Given the description of an element on the screen output the (x, y) to click on. 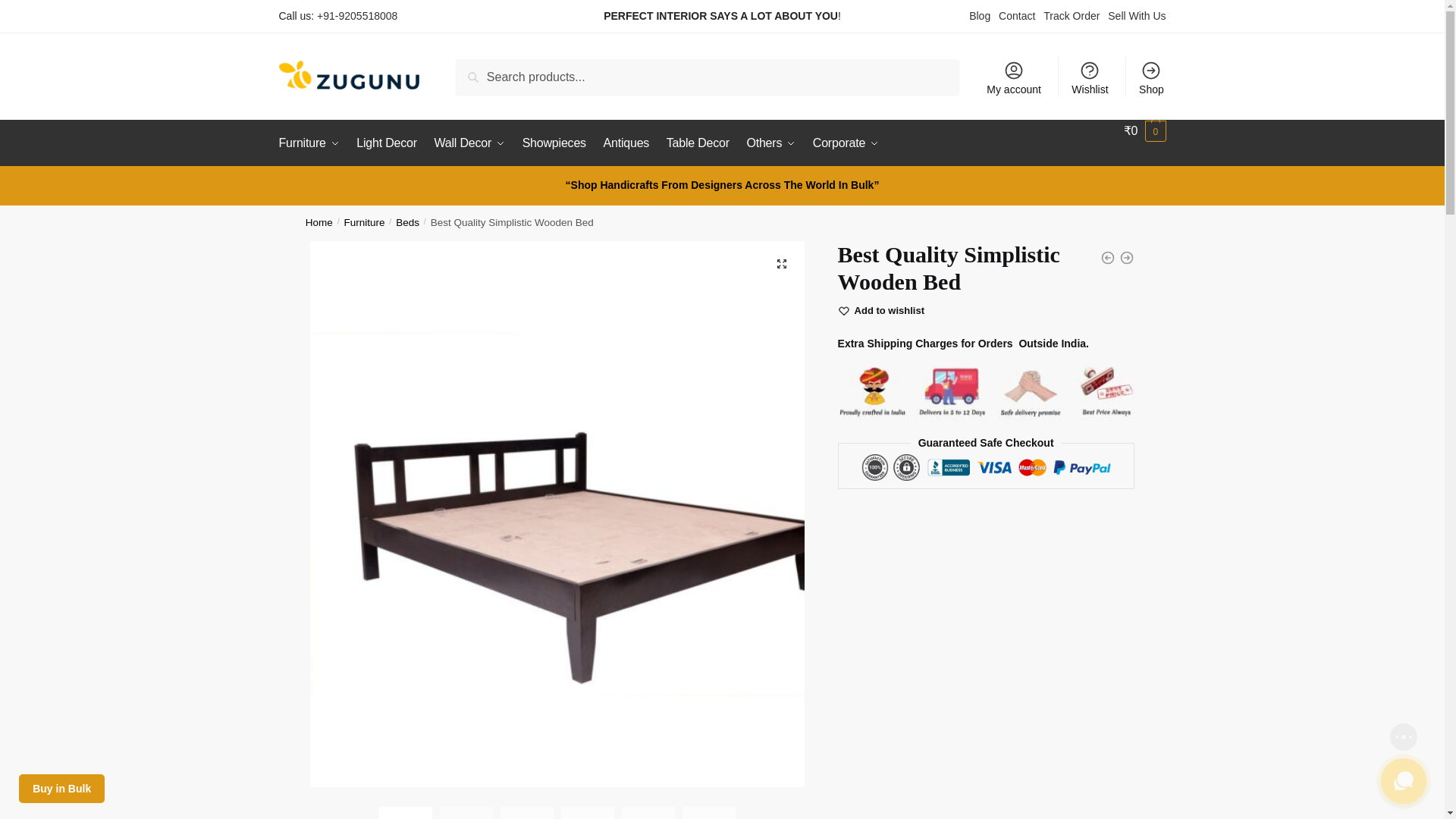
ZuGuNu Home Decor Policies (986, 388)
Search (476, 69)
Sell With Us (1137, 15)
Wall Decor (470, 143)
View your shopping cart (1145, 130)
Contact (1016, 15)
Furniture (312, 143)
Showpieces (553, 143)
Blog (979, 15)
Shop (1151, 76)
Track Order (1071, 15)
Light Decor (386, 143)
Wishlist (889, 310)
Wishlist (1090, 76)
